Given the description of an element on the screen output the (x, y) to click on. 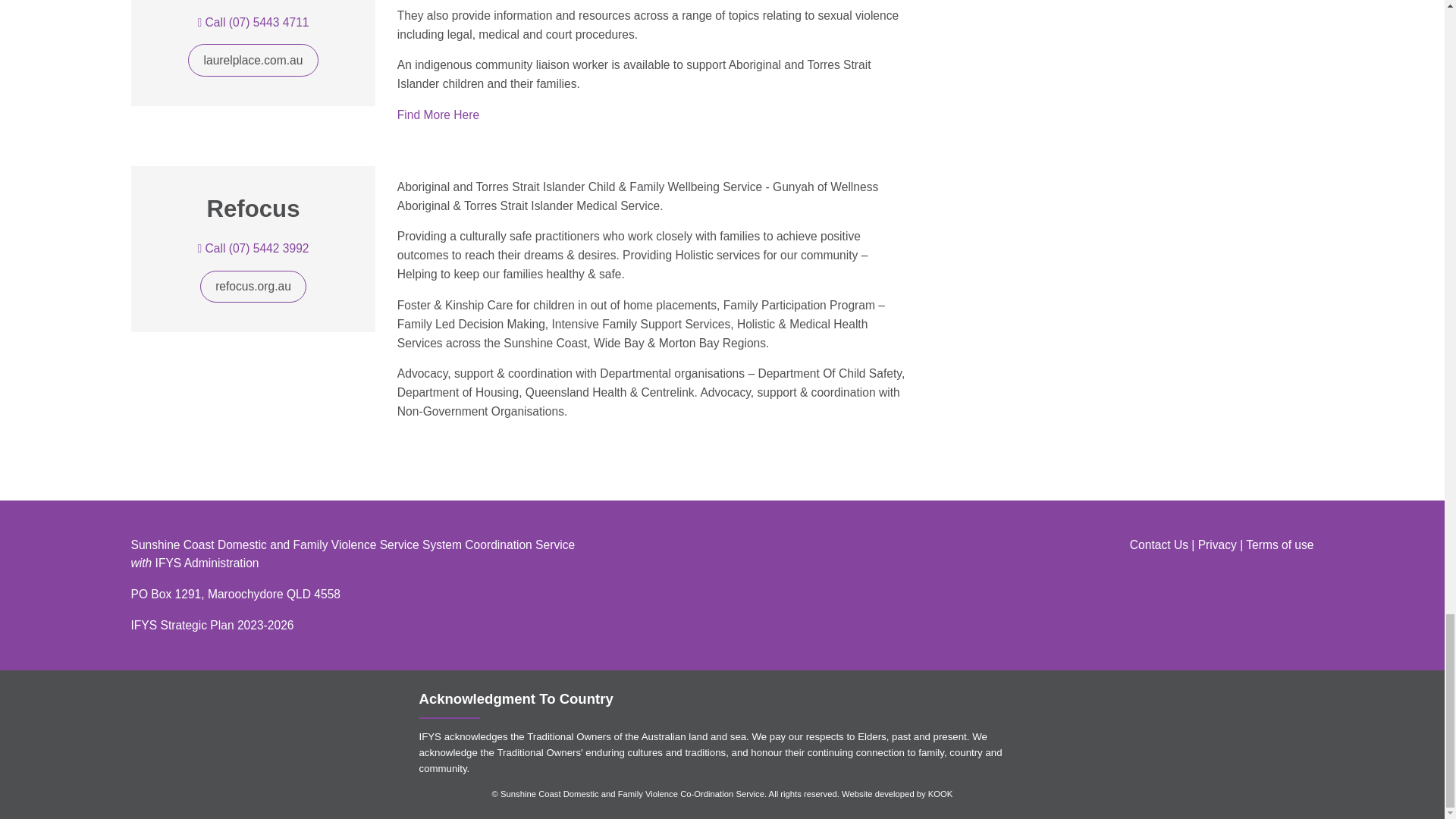
View our strategic plan (212, 625)
